Given the description of an element on the screen output the (x, y) to click on. 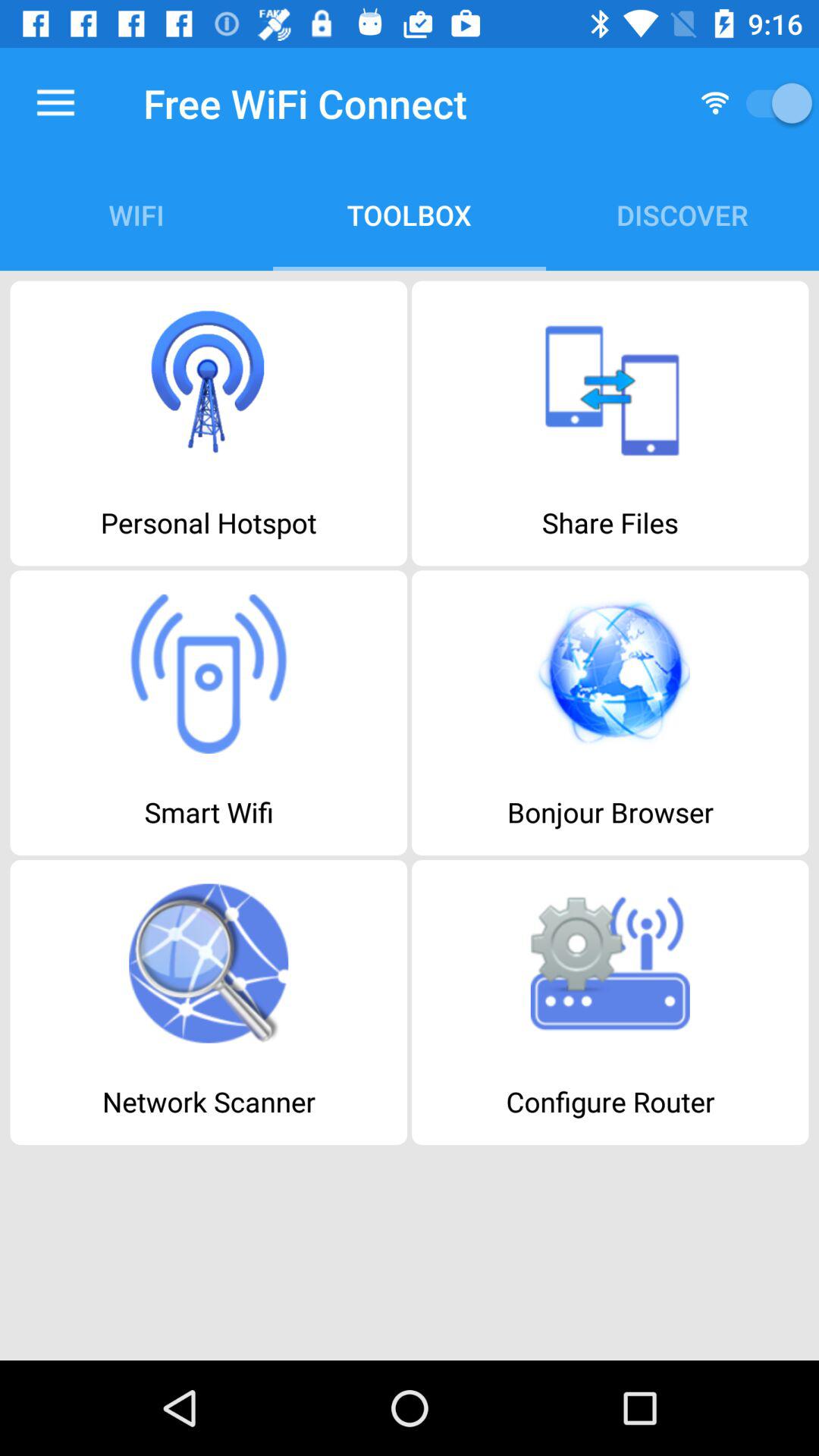
turn off icon above the wifi icon (55, 103)
